Given the description of an element on the screen output the (x, y) to click on. 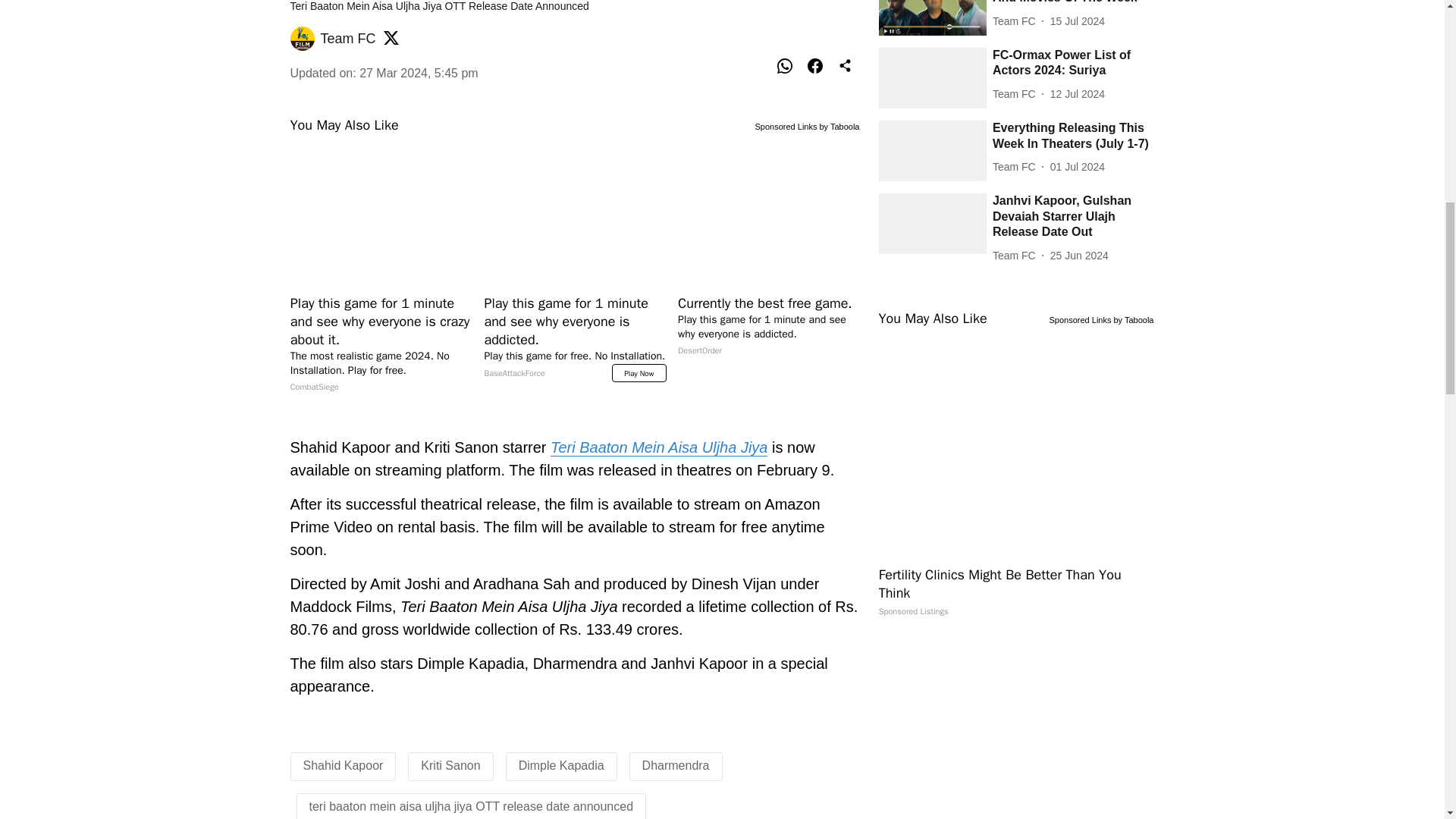
2024-06-25 10:23 (1078, 255)
2024-07-01 11:22 (1077, 166)
2024-07-15 10:54 (1077, 21)
2024-07-12 02:45 (1077, 94)
